Given the description of an element on the screen output the (x, y) to click on. 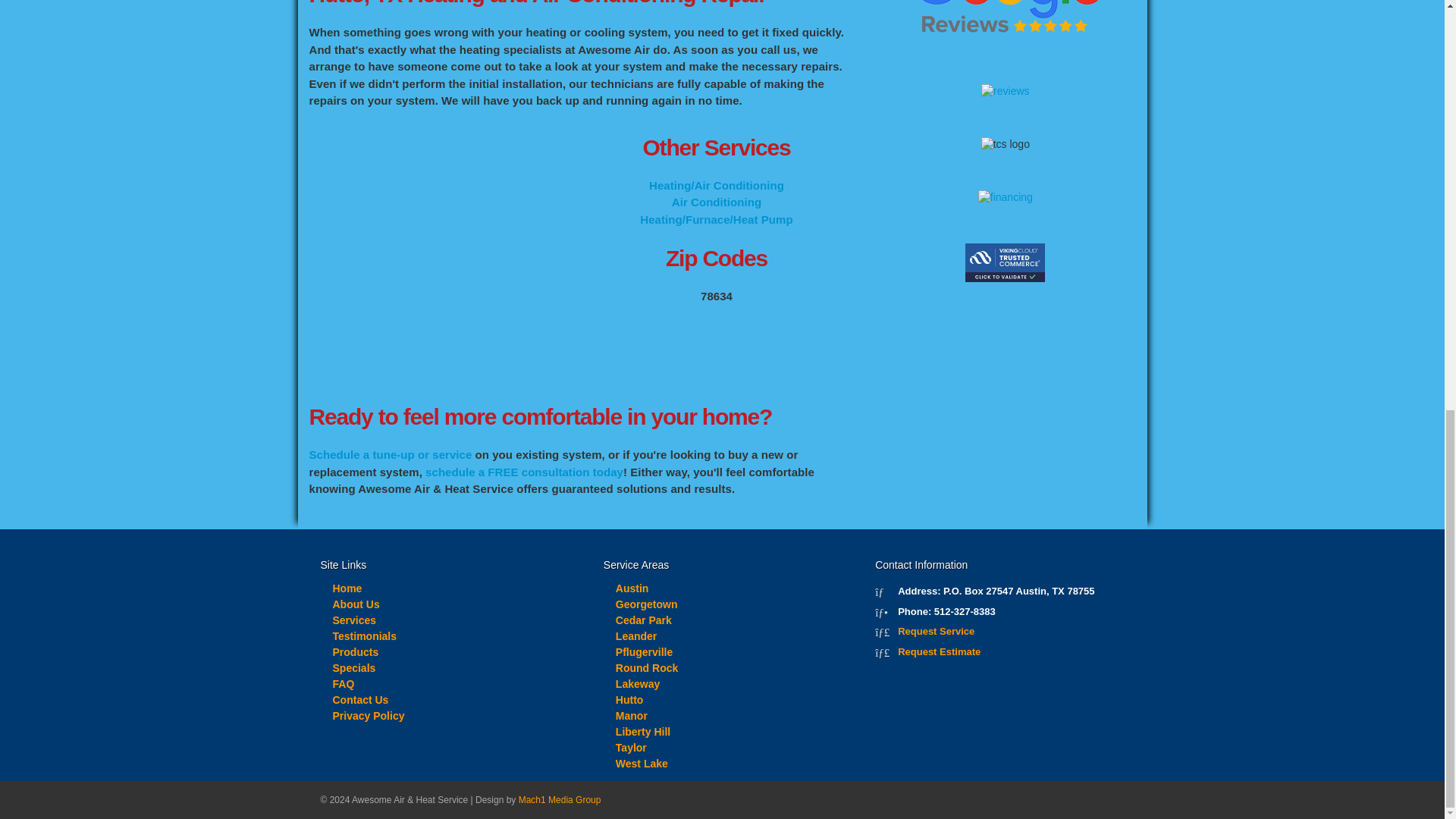
Air Conditioning (716, 201)
Contact Us (359, 699)
Products (354, 652)
Georgetown (646, 604)
FAQ (342, 684)
Austin (632, 588)
Leander (635, 635)
Privacy Policy (367, 715)
schedule a FREE consultation today (524, 472)
Specials (353, 667)
Services (353, 620)
Get and Estimate (938, 651)
Home (346, 588)
Request Service (936, 631)
